Given the description of an element on the screen output the (x, y) to click on. 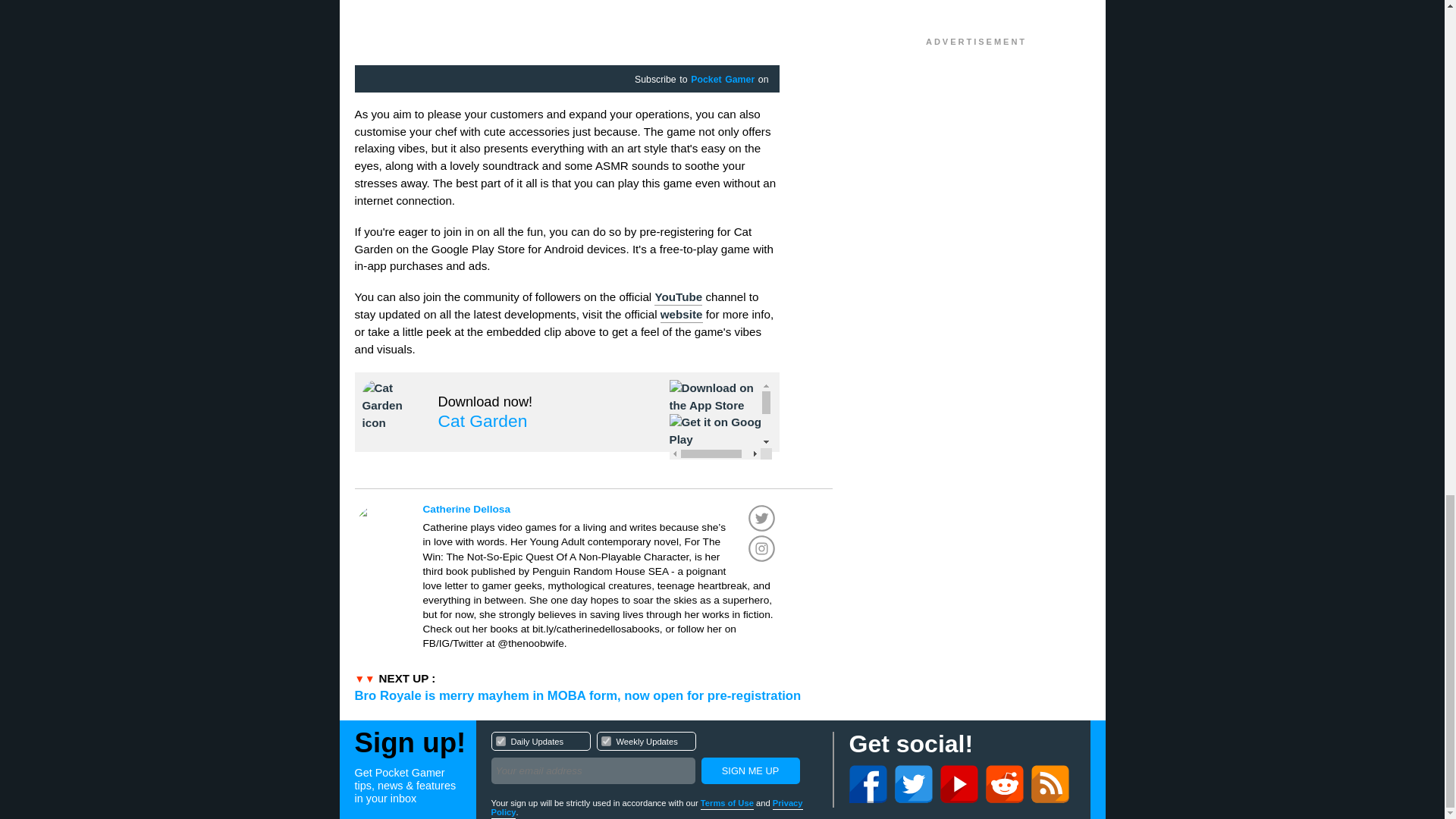
Cat Garden (654, 759)
2 (482, 420)
Catherine Dellosa (604, 741)
1 (600, 509)
website (500, 741)
Sign Me Up (682, 314)
Pocket Gamer (749, 770)
YouTube (722, 80)
